Given the description of an element on the screen output the (x, y) to click on. 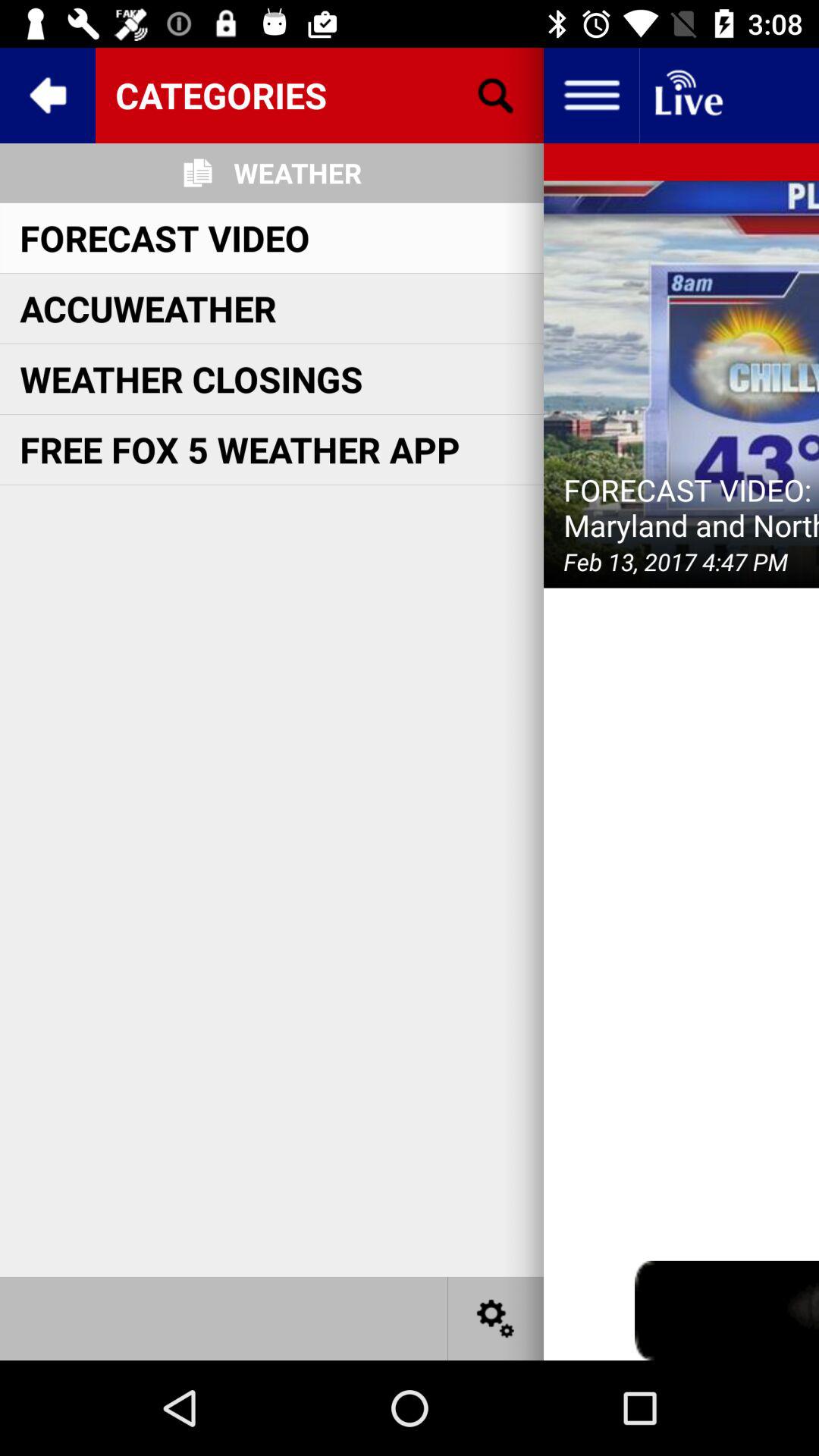
scroll to free fox 5 icon (239, 449)
